Given the description of an element on the screen output the (x, y) to click on. 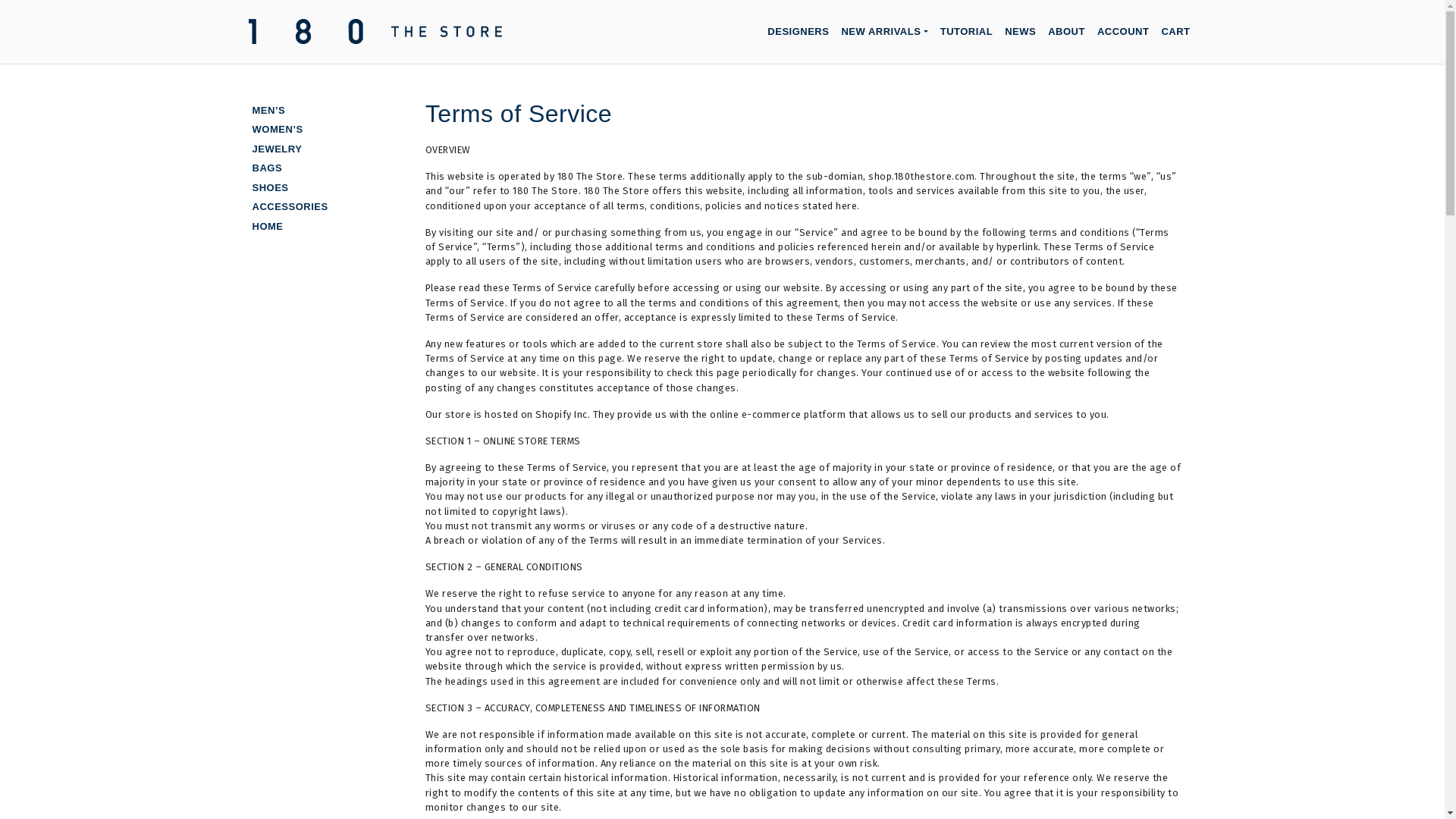
ACCESSORIES Element type: text (289, 206)
ACCOUNT Element type: text (1123, 31)
180 the store Element type: text (560, 46)
DESIGNERS Element type: text (797, 31)
NEW ARRIVALS Element type: text (883, 31)
NEWS Element type: text (1019, 31)
BAGS Element type: text (266, 167)
HOME Element type: text (266, 225)
SHOES Element type: text (269, 187)
TUTORIAL Element type: text (966, 31)
ABOUT Element type: text (1066, 31)
JEWELRY Element type: text (276, 147)
CART Element type: text (1174, 31)
